Given the description of an element on the screen output the (x, y) to click on. 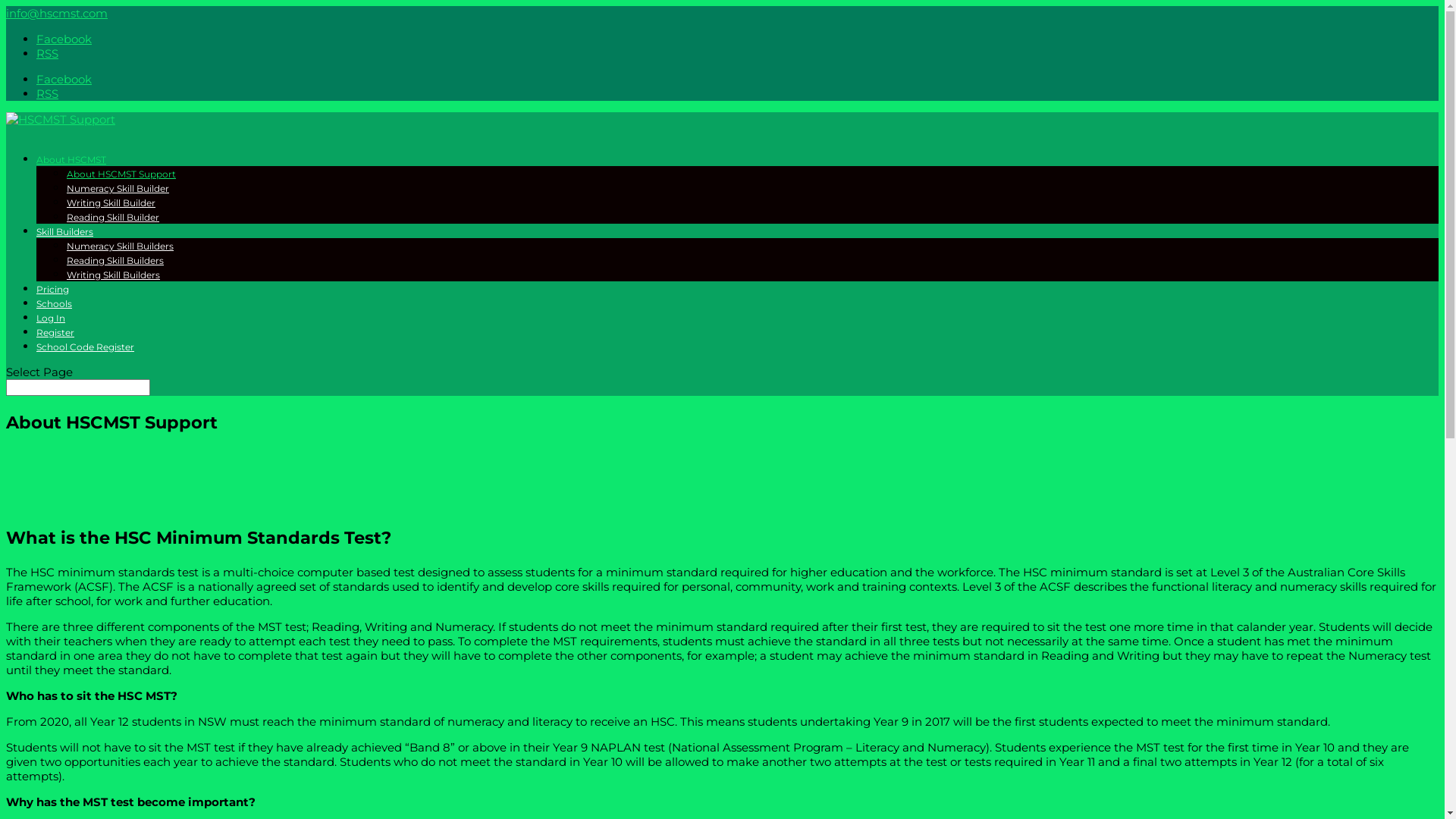
Register Element type: text (55, 338)
Skill Builders Element type: text (64, 238)
School Code Register Element type: text (85, 353)
About HSCMST Element type: text (71, 165)
Reading Skill Builder Element type: text (112, 216)
RSS Element type: text (47, 53)
Search for: Element type: hover (78, 387)
Facebook Element type: text (63, 79)
About HSCMST Support Element type: text (120, 173)
Log In Element type: text (50, 324)
info@hscmst.com Element type: text (56, 13)
Reading Skill Builders Element type: text (114, 260)
Schools Element type: text (54, 310)
Facebook Element type: text (63, 38)
Numeracy Skill Builders Element type: text (119, 245)
RSS Element type: text (47, 93)
Writing Skill Builders Element type: text (113, 274)
Writing Skill Builder Element type: text (110, 202)
Numeracy Skill Builder Element type: text (117, 188)
Pricing Element type: text (52, 295)
